Given the description of an element on the screen output the (x, y) to click on. 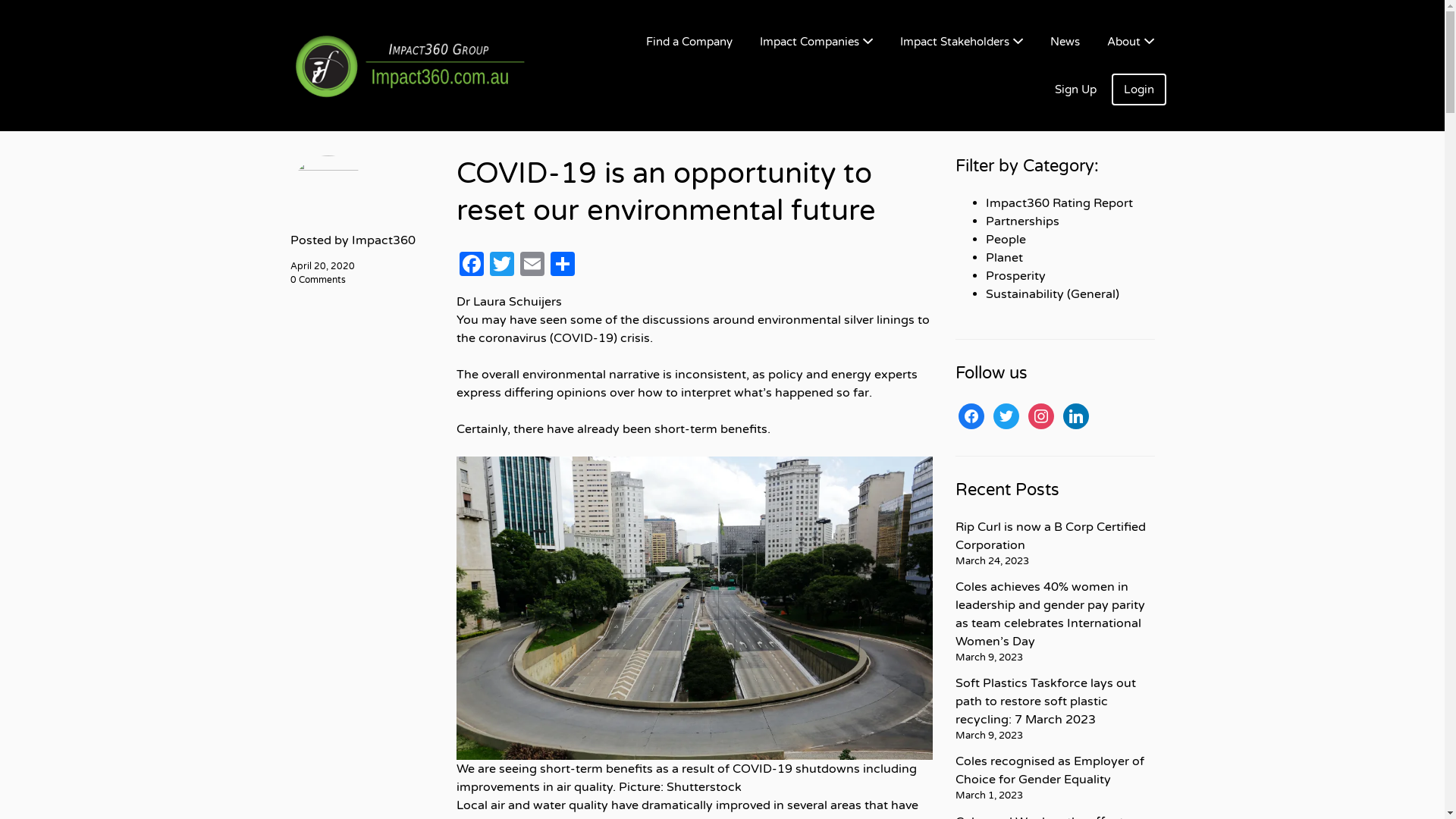
April 20, 2020 Element type: text (321, 265)
Share Element type: text (562, 265)
air Element type: text (497, 804)
Login Element type: text (1138, 88)
facebook Element type: text (971, 415)
Rip Curl is now a B Corp Certified Corporation Element type: text (1050, 535)
instagram Element type: text (1041, 415)
People Element type: text (1005, 239)
IMPACT 360 Element type: text (426, 65)
twitter Element type: text (1006, 415)
Impact Companies Element type: text (815, 41)
Impact360 Element type: text (383, 239)
0 Comments Element type: text (317, 279)
water quality Element type: text (570, 804)
Twitter Element type: text (501, 265)
Sustainability (General) Element type: text (1052, 293)
Sign Up Element type: text (1074, 88)
Email Element type: text (532, 265)
About Element type: text (1130, 41)
Impact Stakeholders Element type: text (960, 41)
Coles recognised as Employer of Choice for Gender Equality Element type: text (1049, 770)
Dr Laura Schuijers Element type: text (508, 301)
Impact360 Rating Report Element type: text (1058, 202)
News Element type: text (1064, 41)
Find a Company Element type: text (688, 41)
Partnerships Element type: text (1022, 221)
Planet Element type: text (1003, 257)
linkedin Element type: text (1075, 415)
Facebook Element type: text (471, 265)
Prosperity Element type: text (1015, 275)
